Given the description of an element on the screen output the (x, y) to click on. 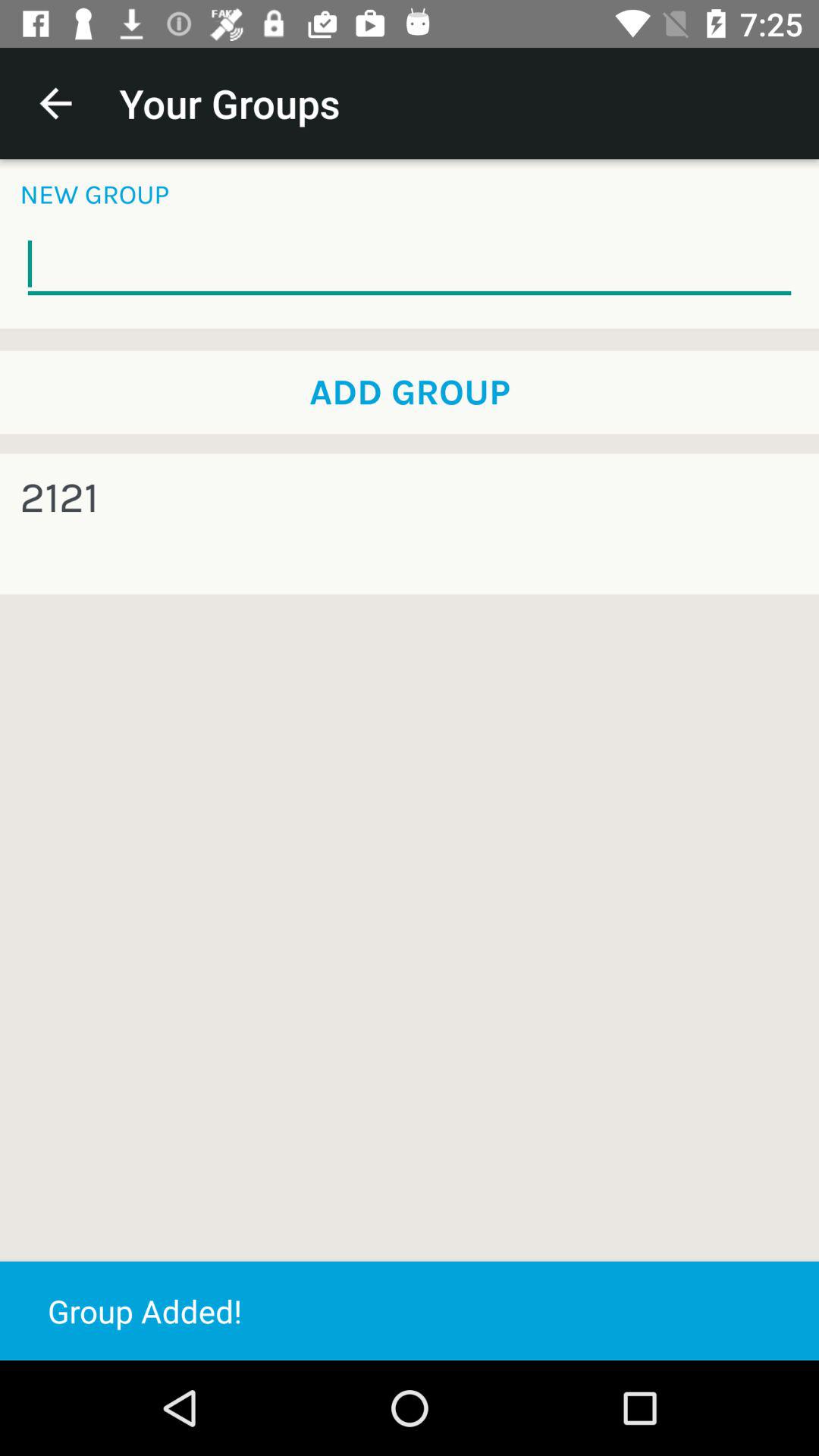
scroll to 2121 item (58, 497)
